Given the description of an element on the screen output the (x, y) to click on. 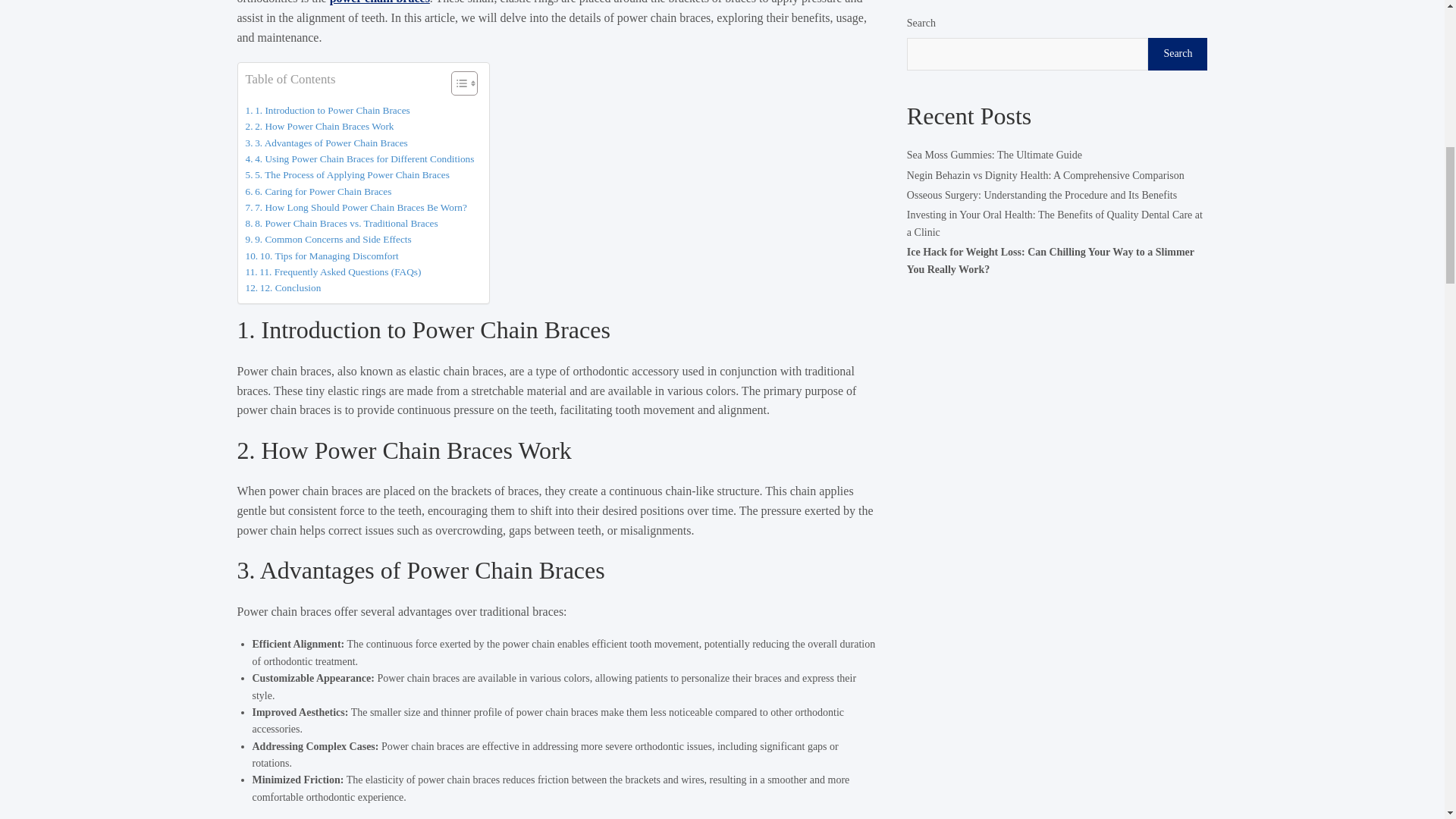
6. Caring for Power Chain Braces (318, 191)
4. Using Power Chain Braces for Different Conditions (360, 158)
1. Introduction to Power Chain Braces (328, 109)
1. Introduction to Power Chain Braces (328, 109)
4. Using Power Chain Braces for Different Conditions (360, 158)
3. Advantages of Power Chain Braces (326, 142)
8. Power Chain Braces vs. Traditional Braces (342, 222)
3. Advantages of Power Chain Braces (326, 142)
9. Common Concerns and Side Effects (329, 238)
8. Power Chain Braces vs. Traditional Braces (342, 222)
6. Caring for Power Chain Braces (318, 191)
5. The Process of Applying Power Chain Braces (347, 174)
2. How Power Chain Braces Work (320, 125)
7. How Long Should Power Chain Braces Be Worn? (356, 207)
5. The Process of Applying Power Chain Braces (347, 174)
